Given the description of an element on the screen output the (x, y) to click on. 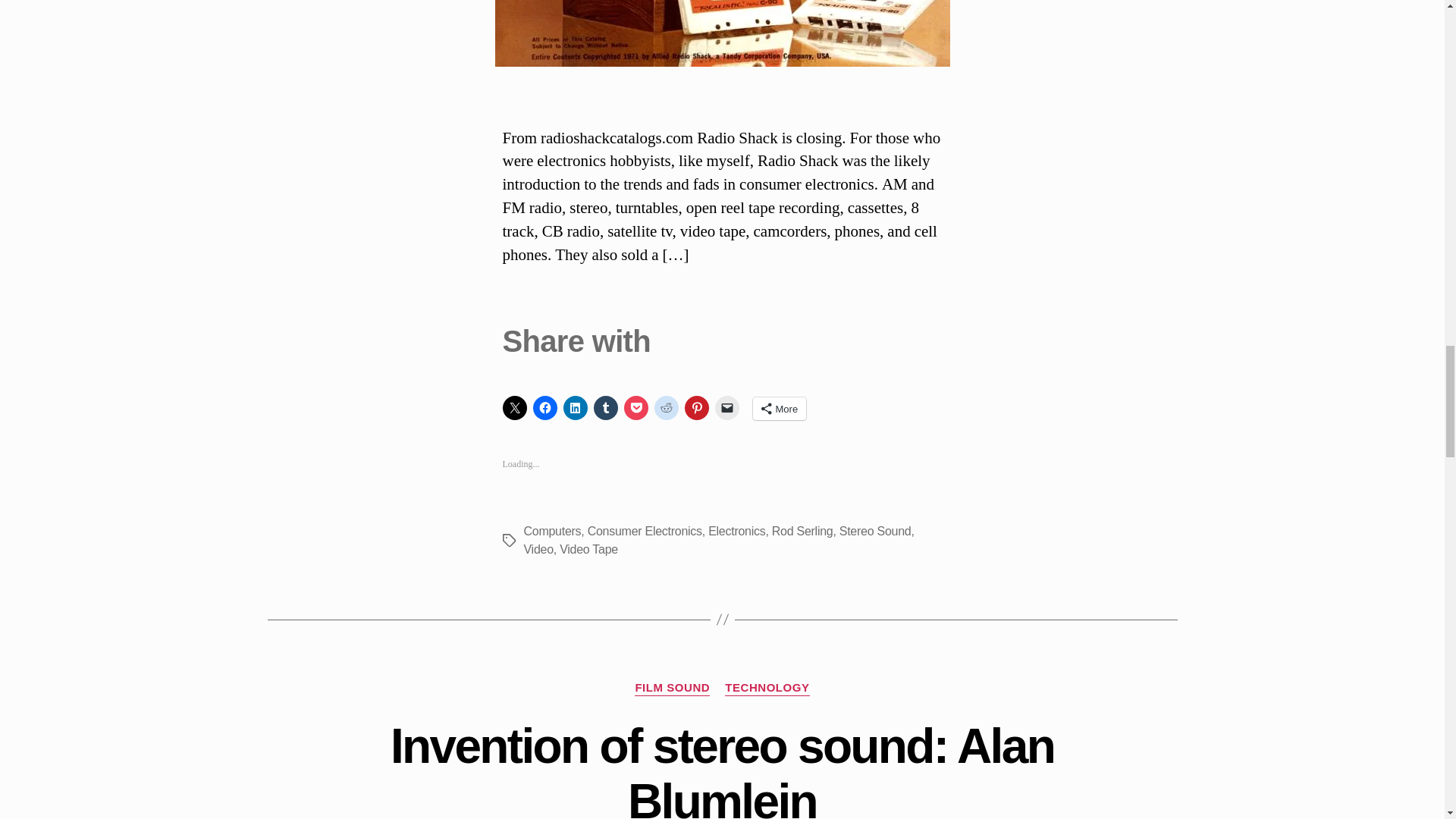
Click to share on LinkedIn (574, 407)
Click to share on Facebook (544, 407)
Click to share on X (513, 407)
